Given the description of an element on the screen output the (x, y) to click on. 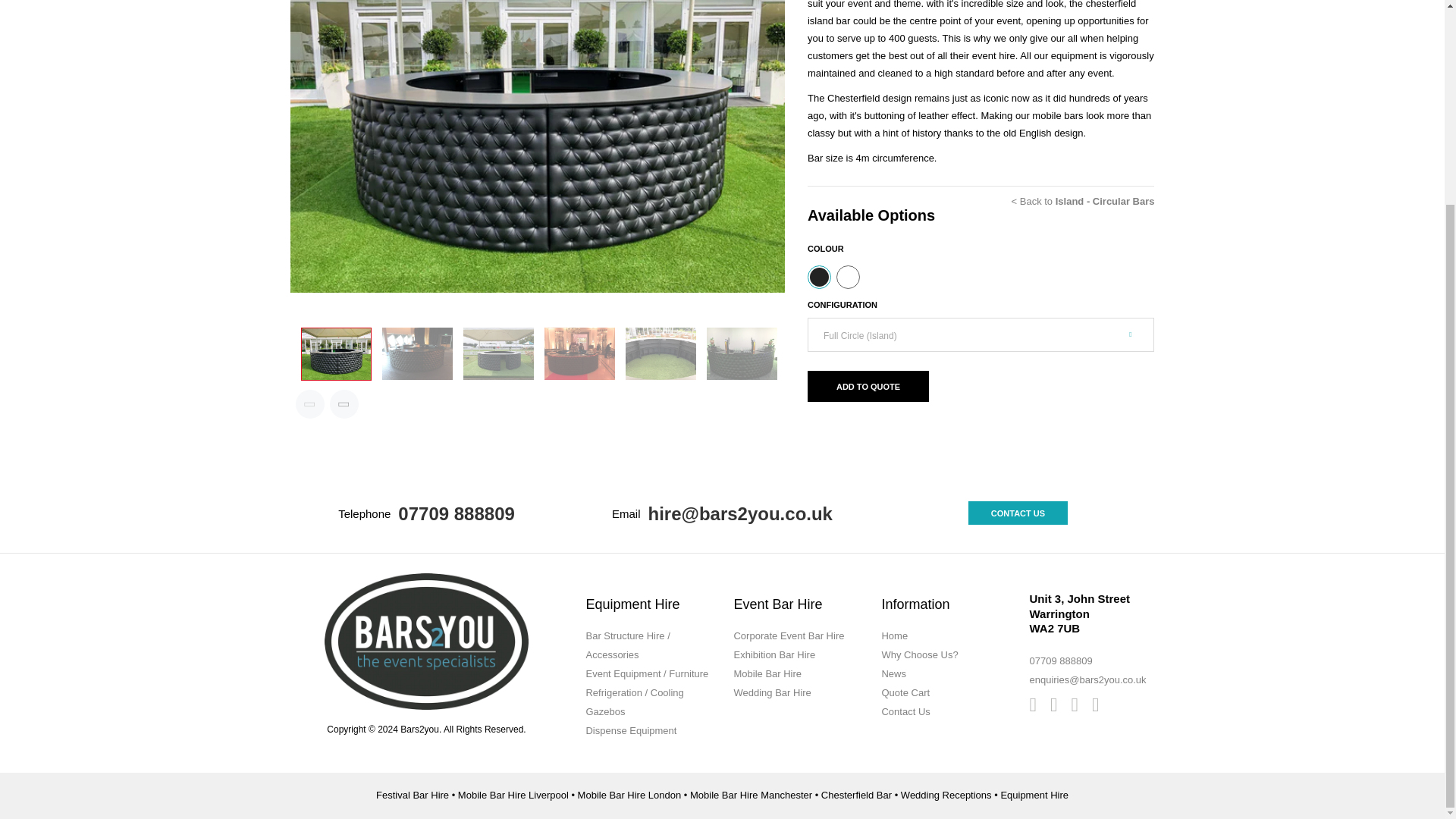
Black (819, 277)
Back to the Island - Circular Bars collection page (1082, 201)
White (847, 277)
